Given the description of an element on the screen output the (x, y) to click on. 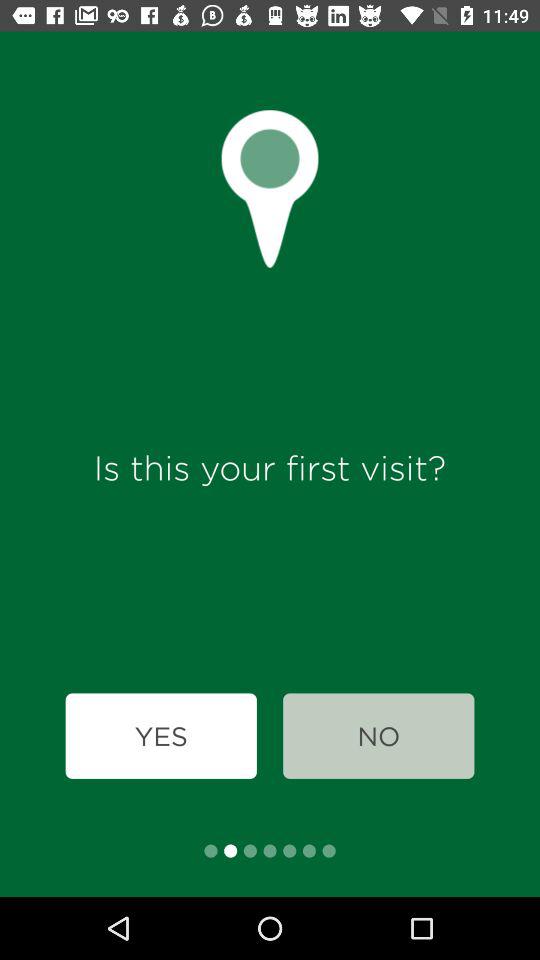
launch icon below is this your (160, 735)
